Given the description of an element on the screen output the (x, y) to click on. 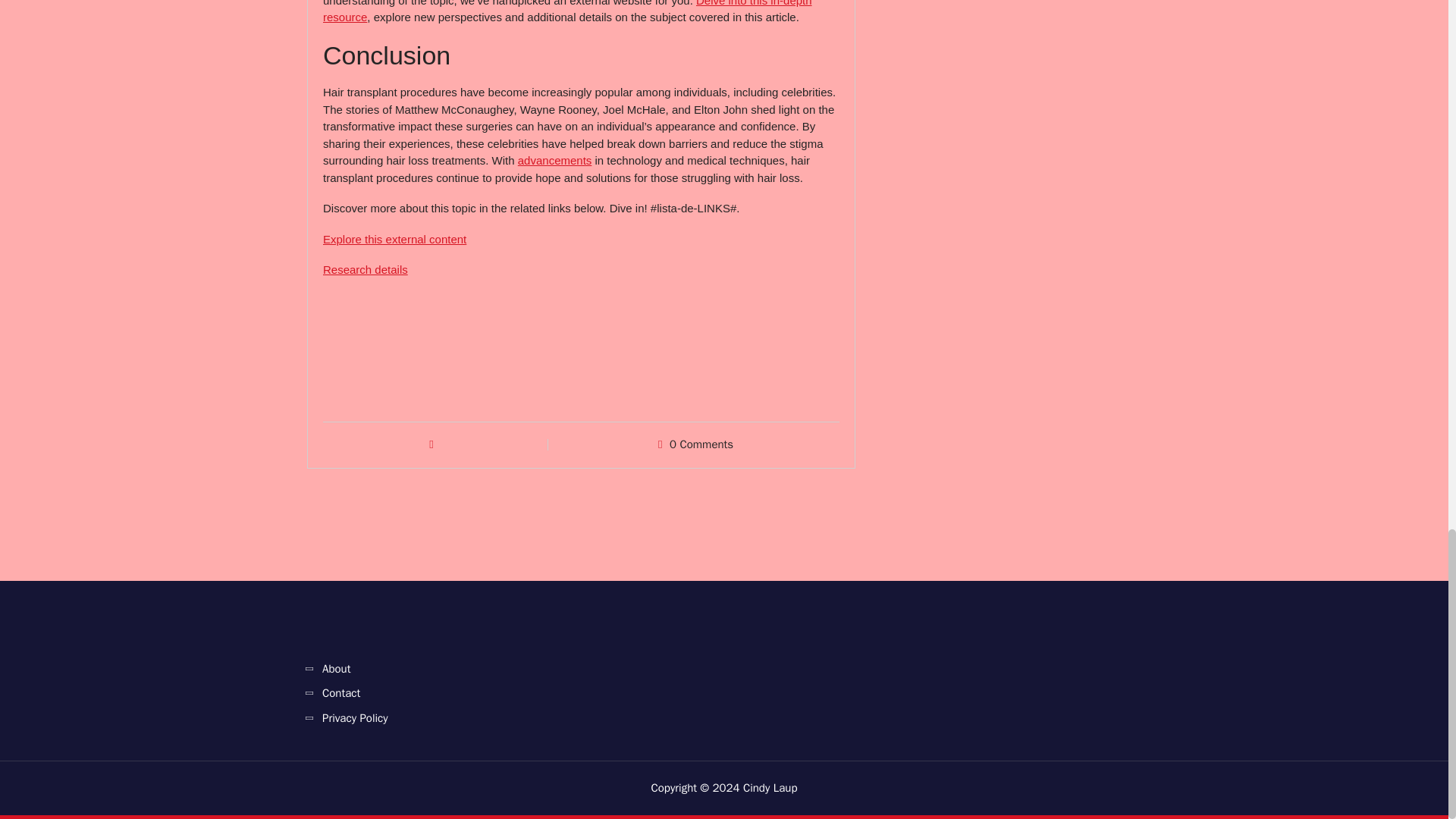
Explore this external content (394, 238)
Research details (365, 269)
advancements (555, 160)
Delve into this in-depth resource (567, 12)
0 Comments (701, 444)
